Given the description of an element on the screen output the (x, y) to click on. 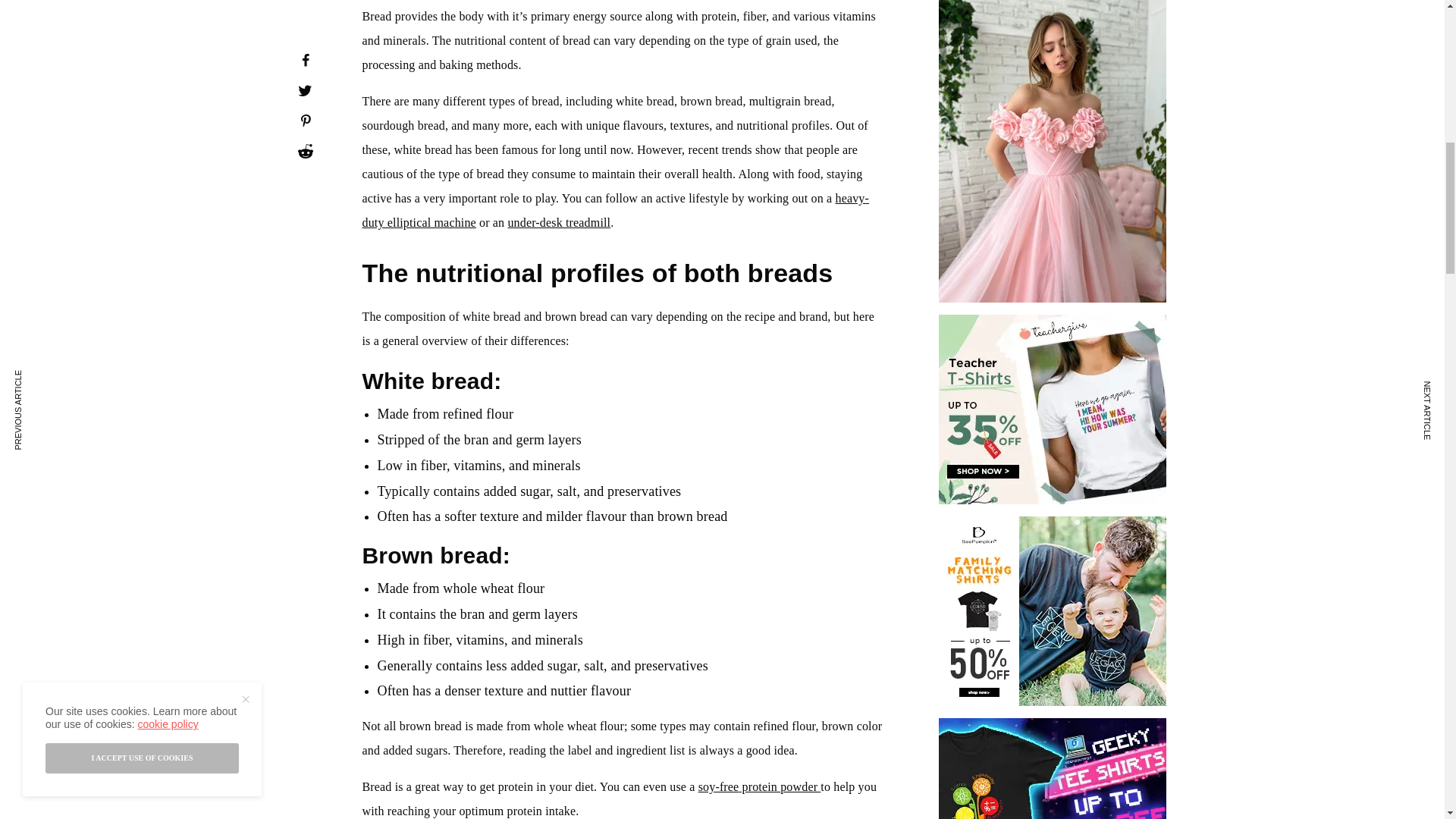
christian t shirts (1052, 616)
teacher t shirts (1052, 53)
family matching shirts (1052, 212)
geek t shirt (1052, 414)
Japanese t shirts (1052, 771)
